Given the description of an element on the screen output the (x, y) to click on. 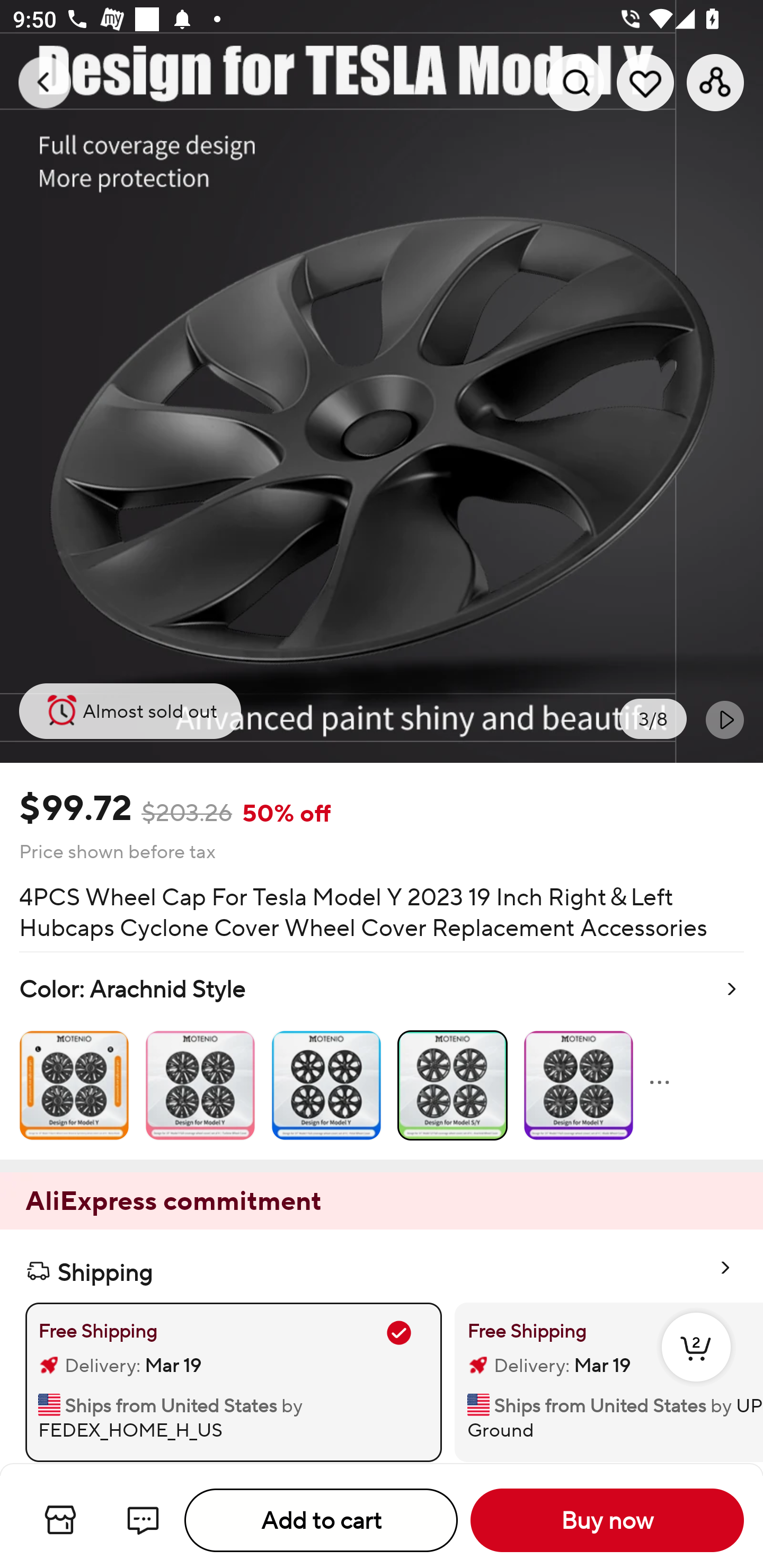
Navigate up (44, 82)
 (724, 719)
Color: Arachnid Style  (381, 1055)
2 (695, 1366)
Add to cart (320, 1520)
Buy now (606, 1520)
